Given the description of an element on the screen output the (x, y) to click on. 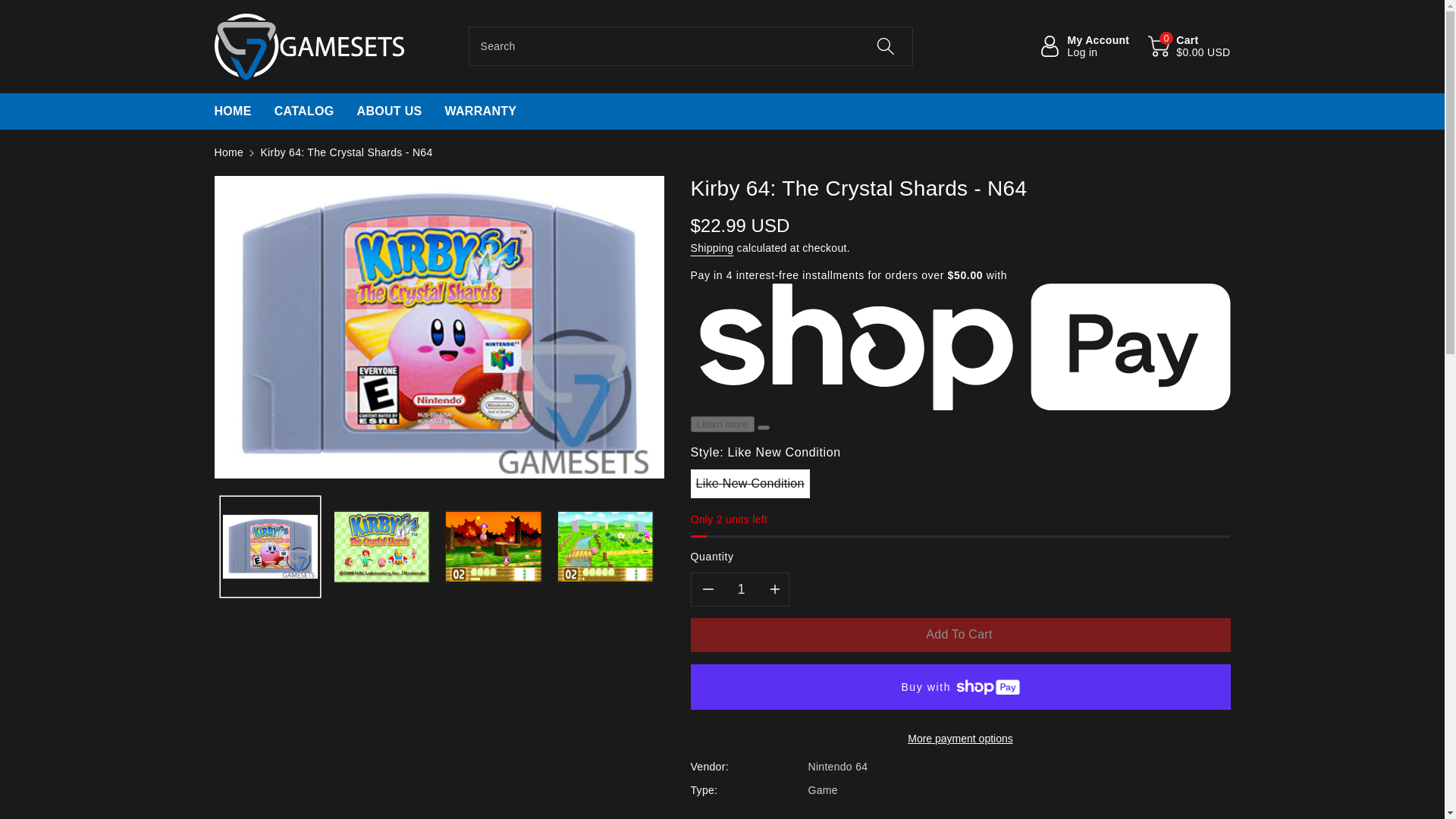
1 (741, 589)
Skip To Product Information (1084, 46)
WARRANTY (222, 182)
Home (480, 110)
Skip To Content (228, 151)
ABOUT US (8, 8)
HOME (389, 110)
Like New Condition (232, 110)
CATALOG (228, 151)
